Given the description of an element on the screen output the (x, y) to click on. 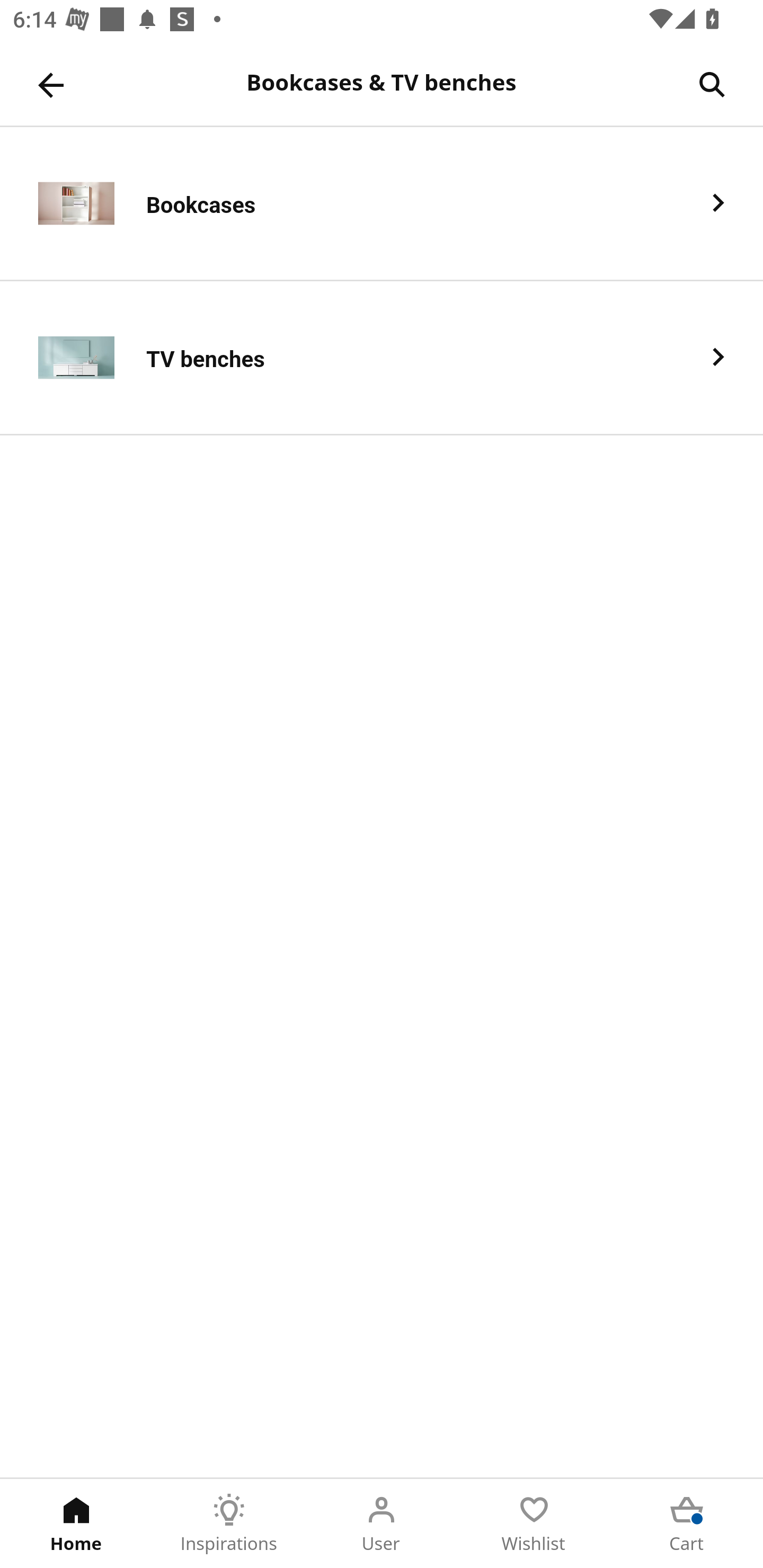
Bookcases (381, 203)
TV benches (381, 357)
Home
Tab 1 of 5 (76, 1522)
Inspirations
Tab 2 of 5 (228, 1522)
User
Tab 3 of 5 (381, 1522)
Wishlist
Tab 4 of 5 (533, 1522)
Cart
Tab 5 of 5 (686, 1522)
